Given the description of an element on the screen output the (x, y) to click on. 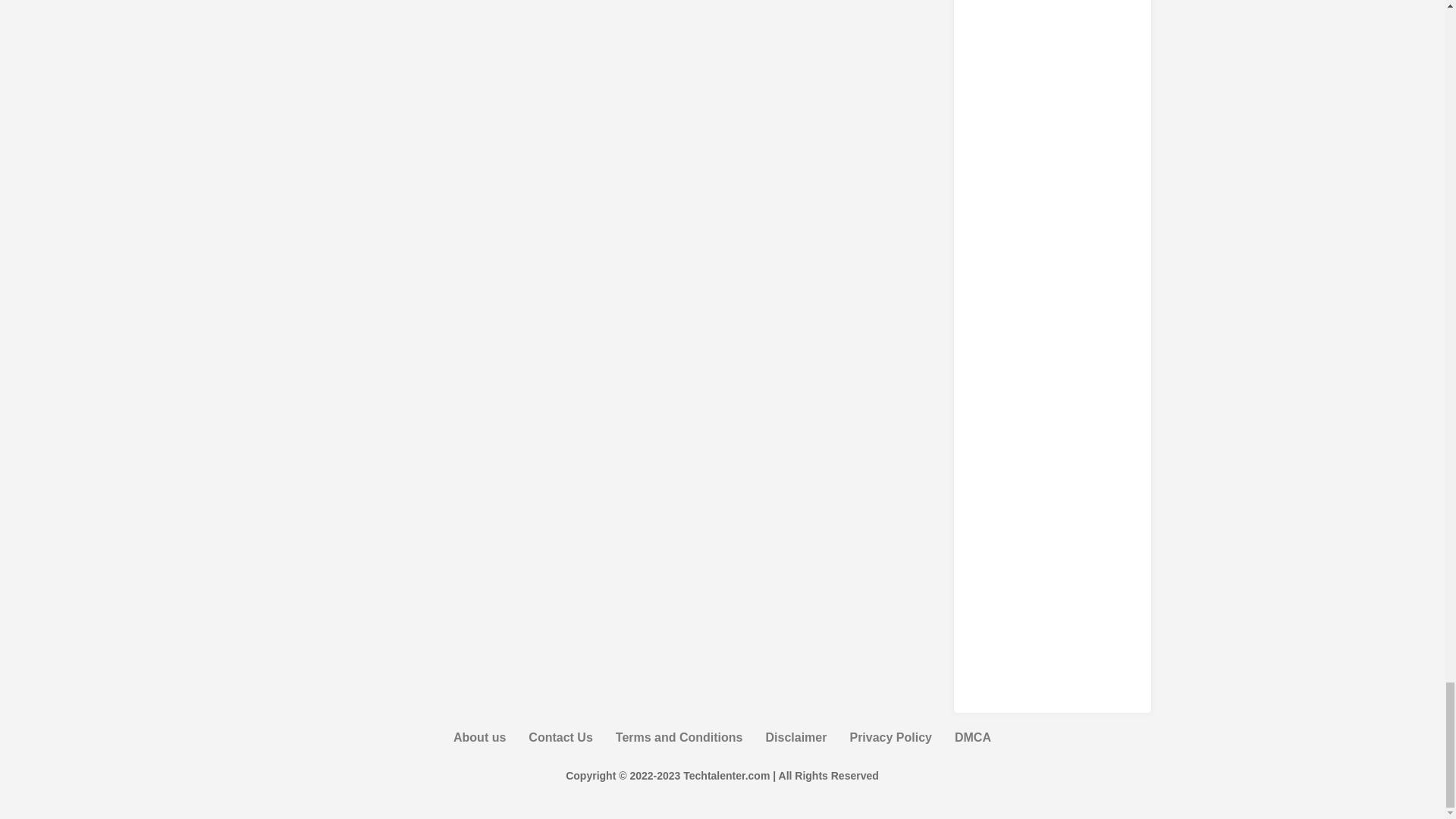
Advertisement (1052, 454)
